Given the description of an element on the screen output the (x, y) to click on. 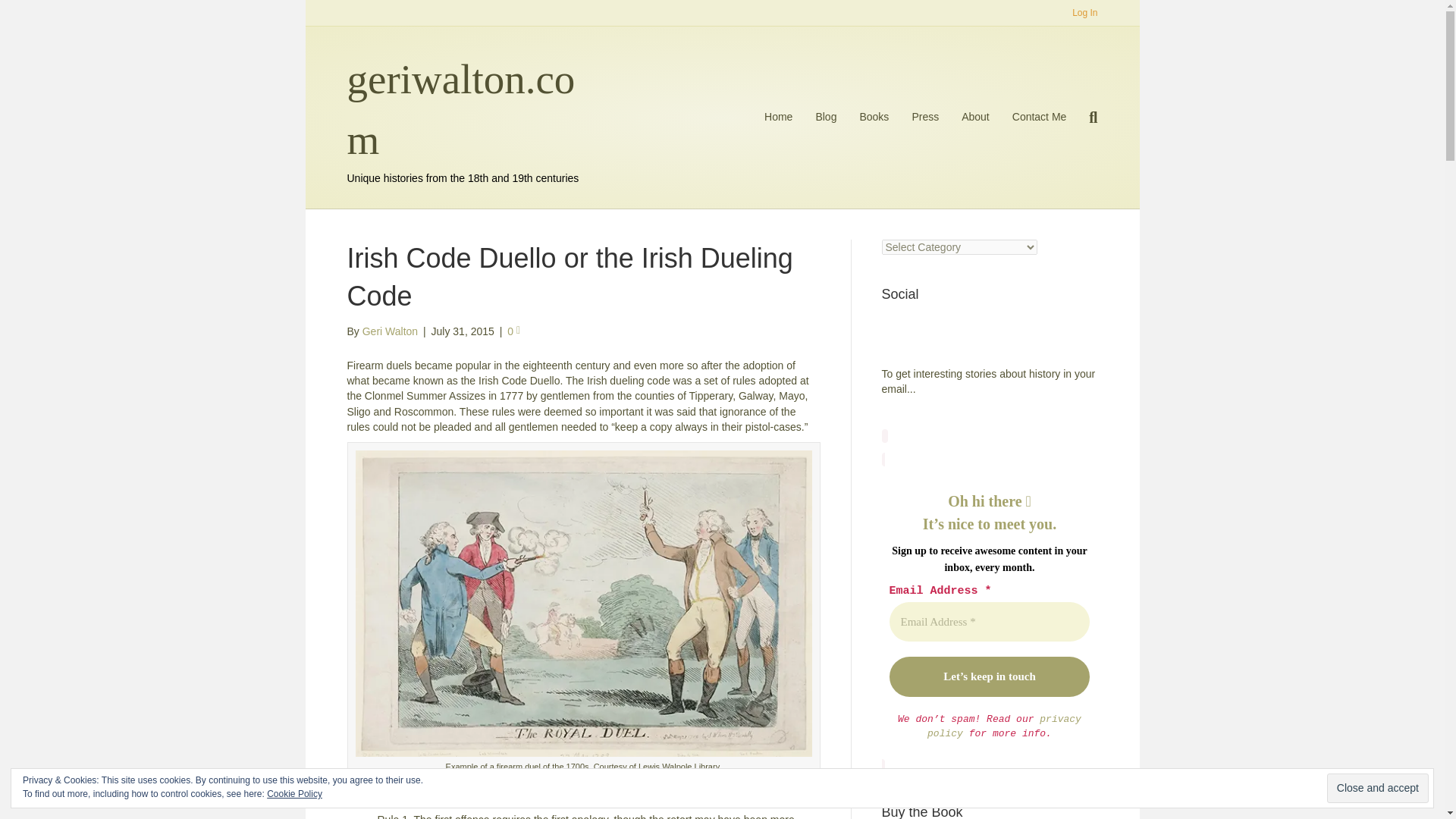
Contact Me (1039, 117)
geriwalton.com (466, 109)
Books (873, 117)
Email Address (988, 621)
Home (777, 117)
Log In (1084, 13)
Geri Walton (389, 331)
0 (512, 331)
About (975, 117)
Press (924, 117)
